Given the description of an element on the screen output the (x, y) to click on. 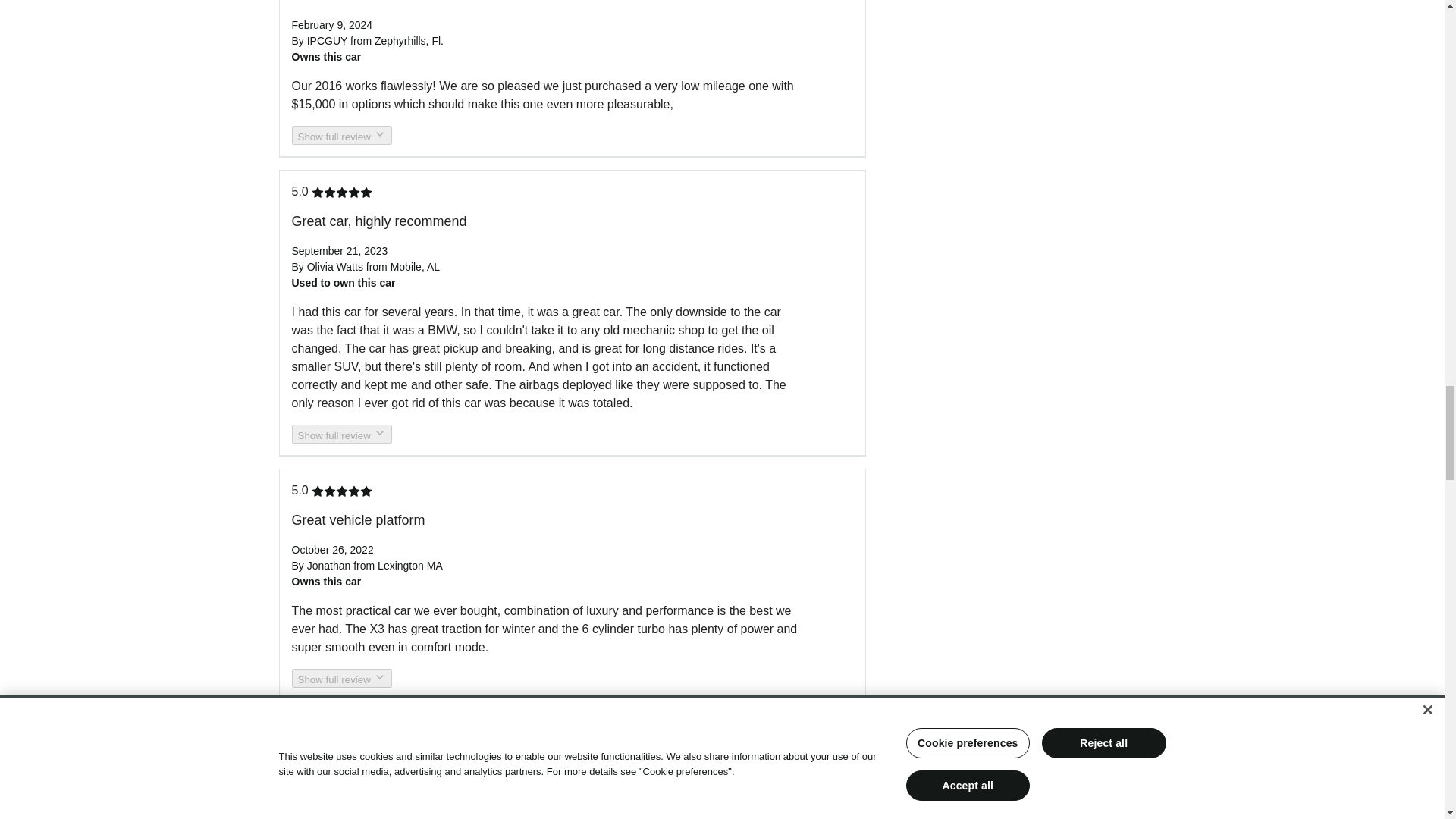
See all 59 consumer reviews (361, 727)
